Given the description of an element on the screen output the (x, y) to click on. 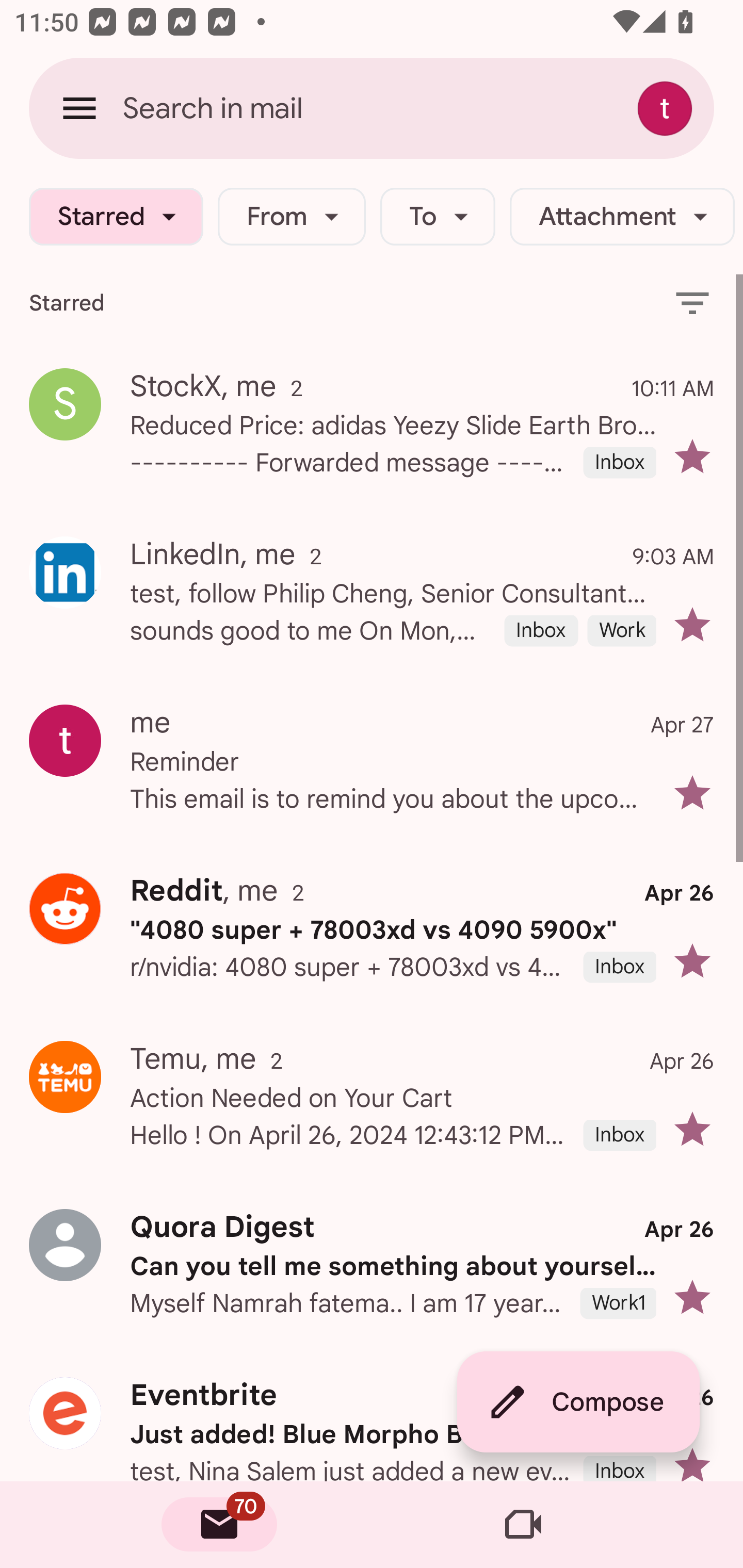
Open navigation drawer (79, 108)
Starred (115, 217)
From (291, 217)
To (437, 217)
Attachment (621, 217)
Filter icon (692, 302)
Compose (577, 1401)
Meet (523, 1524)
